Given the description of an element on the screen output the (x, y) to click on. 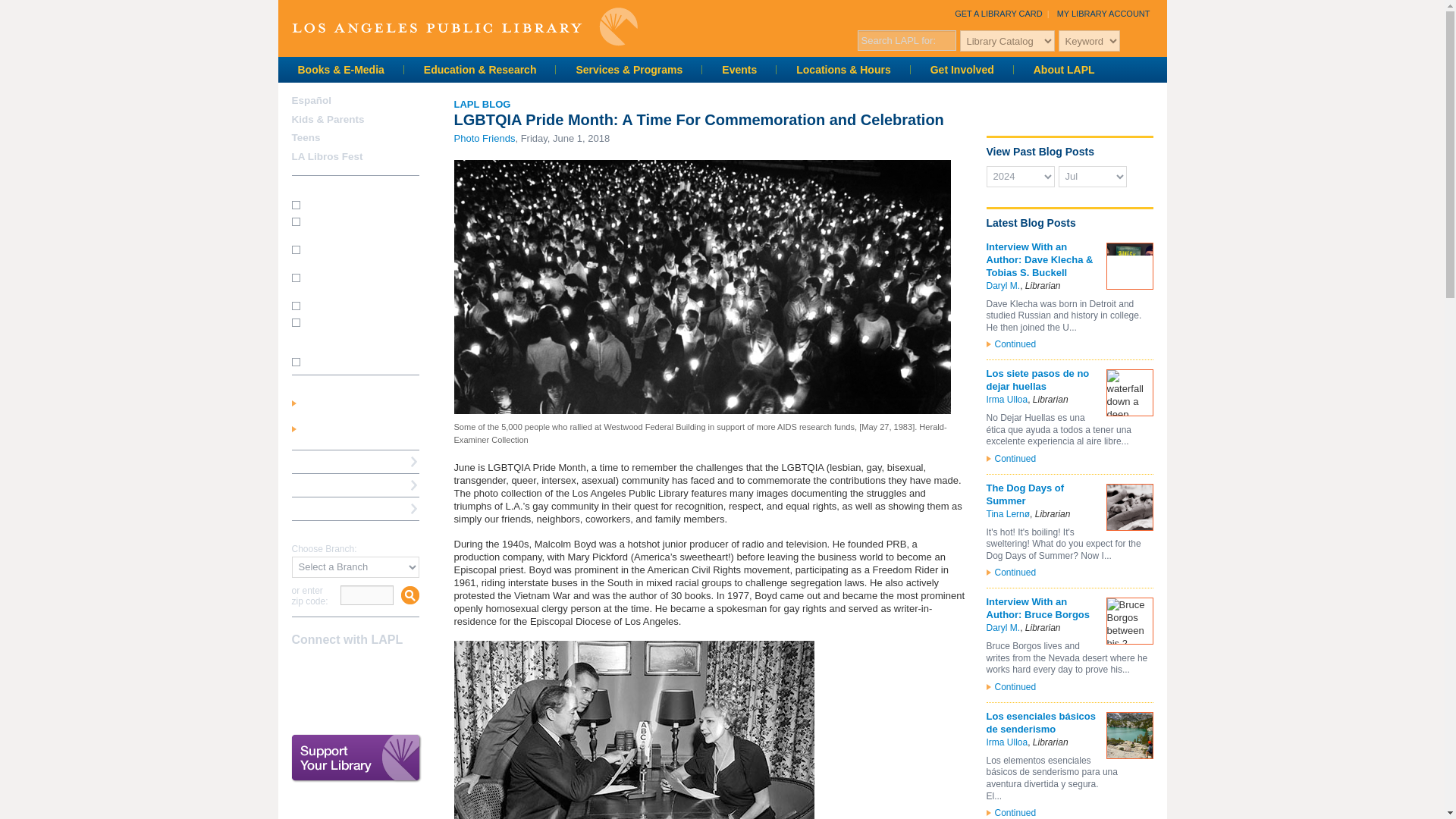
Photo credit: Pam Borgos (1129, 620)
Find It (1150, 39)
Home (464, 26)
Apply (1143, 175)
My Library Account (1103, 13)
Get a Library Card (998, 13)
GET A LIBRARY CARD (998, 13)
Find It (1150, 39)
Los Angeles Public Library (464, 26)
MY LIBRARY ACCOUNT (1103, 13)
Find It (409, 595)
